Given the description of an element on the screen output the (x, y) to click on. 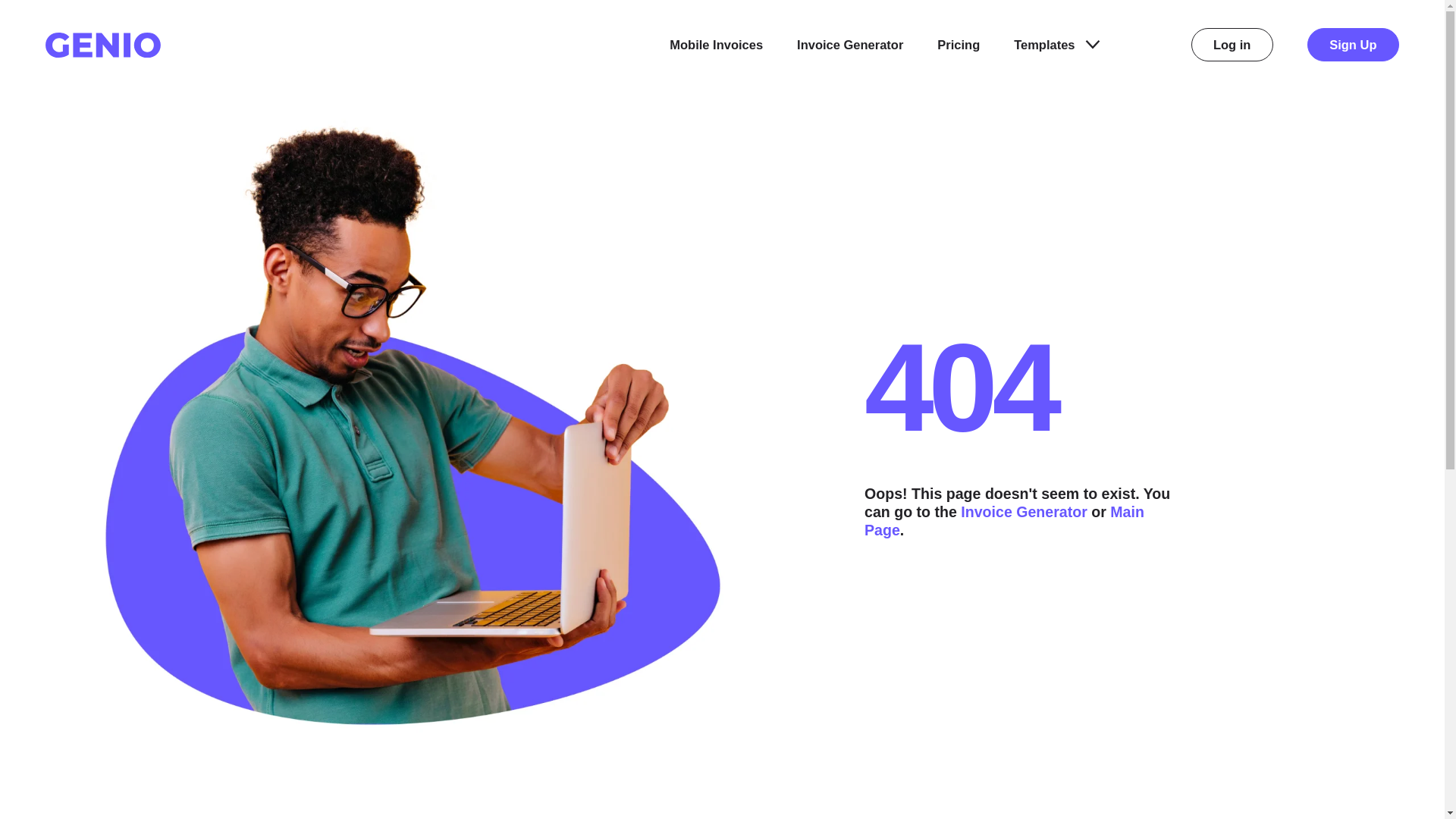
Invoice Generator (849, 44)
Templates (1056, 44)
Main Page (1004, 520)
Mobile Invoices (715, 44)
Sign Up (1353, 44)
Log in (1231, 44)
Pricing (958, 44)
Invoice Generator (1023, 511)
